Given the description of an element on the screen output the (x, y) to click on. 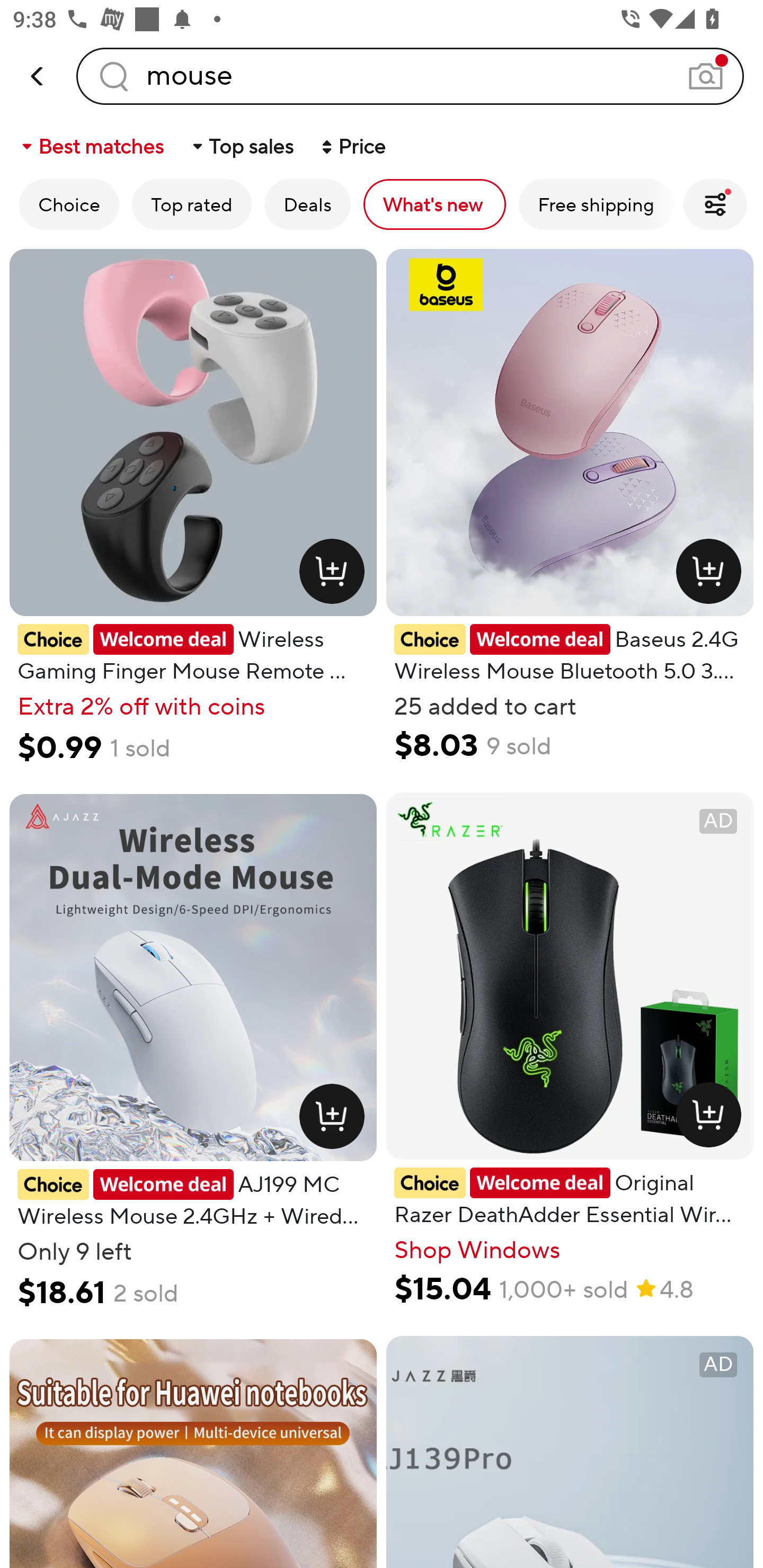
back (38, 75)
mouse Search query (409, 76)
mouse Search query (409, 76)
Best matches (91, 146)
Top sales (241, 146)
Price (352, 146)
Choice (69, 204)
Top rated (191, 204)
Deals (307, 204)
What's new  (434, 204)
Free shipping (595, 204)
